Given the description of an element on the screen output the (x, y) to click on. 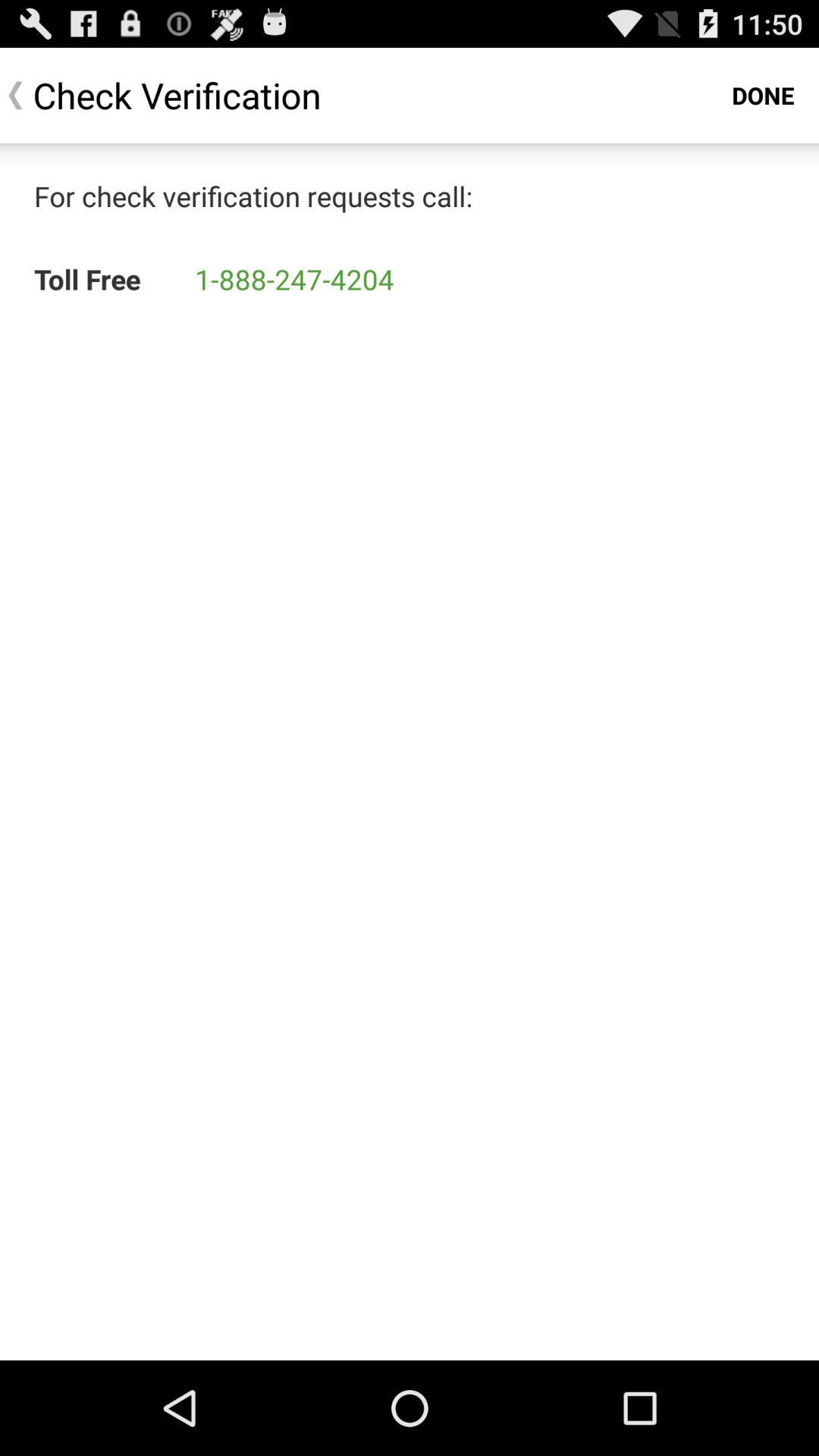
select the done at the top right corner (763, 95)
